Given the description of an element on the screen output the (x, y) to click on. 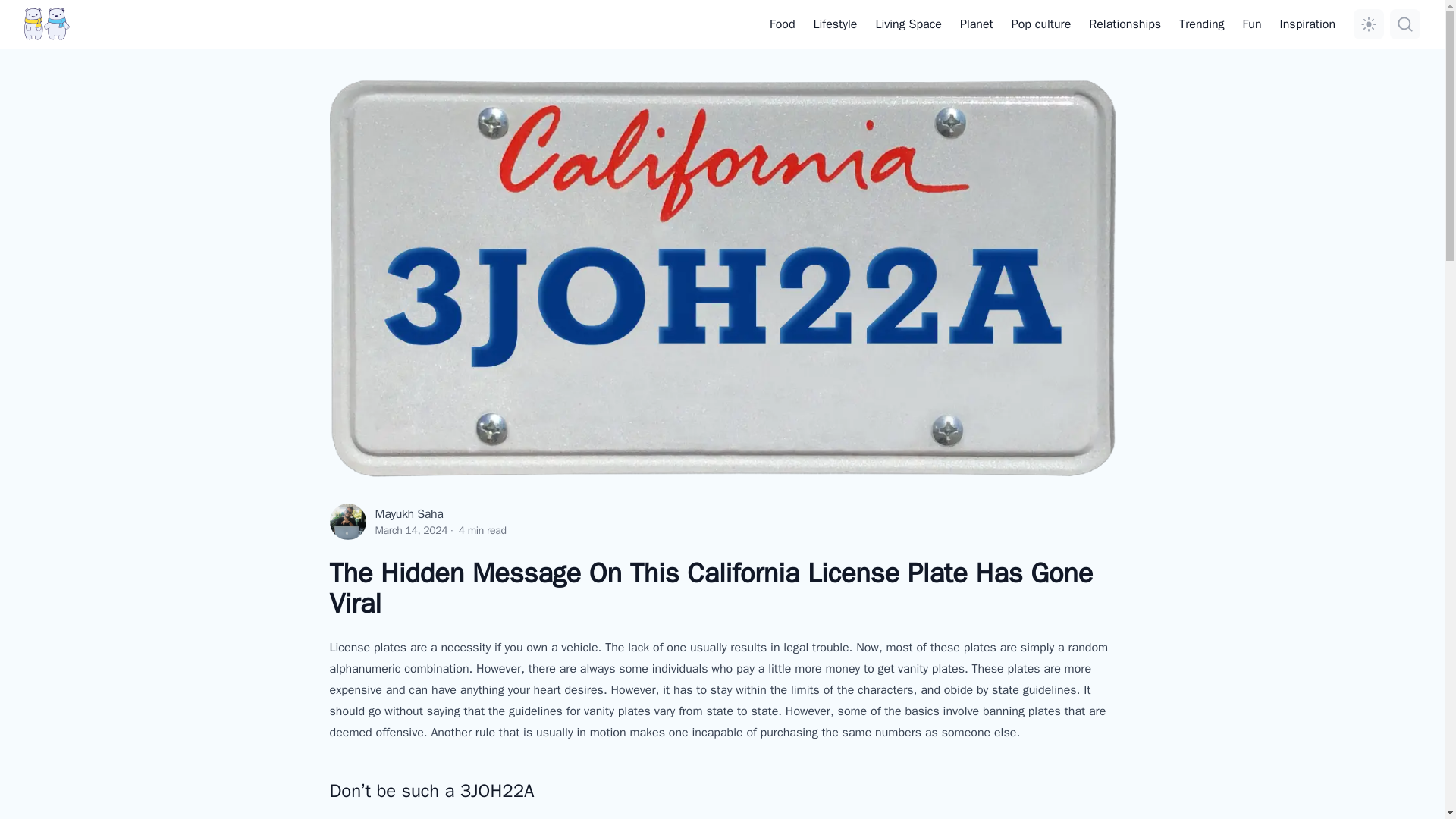
Fun (1252, 23)
Relationships (1124, 23)
Inspiration (1307, 23)
Trending (1201, 23)
Lifestyle (835, 23)
Food (782, 23)
Pop culture (1041, 23)
Planet (975, 23)
Mayukh Saha (408, 513)
Living Space (908, 23)
